Given the description of an element on the screen output the (x, y) to click on. 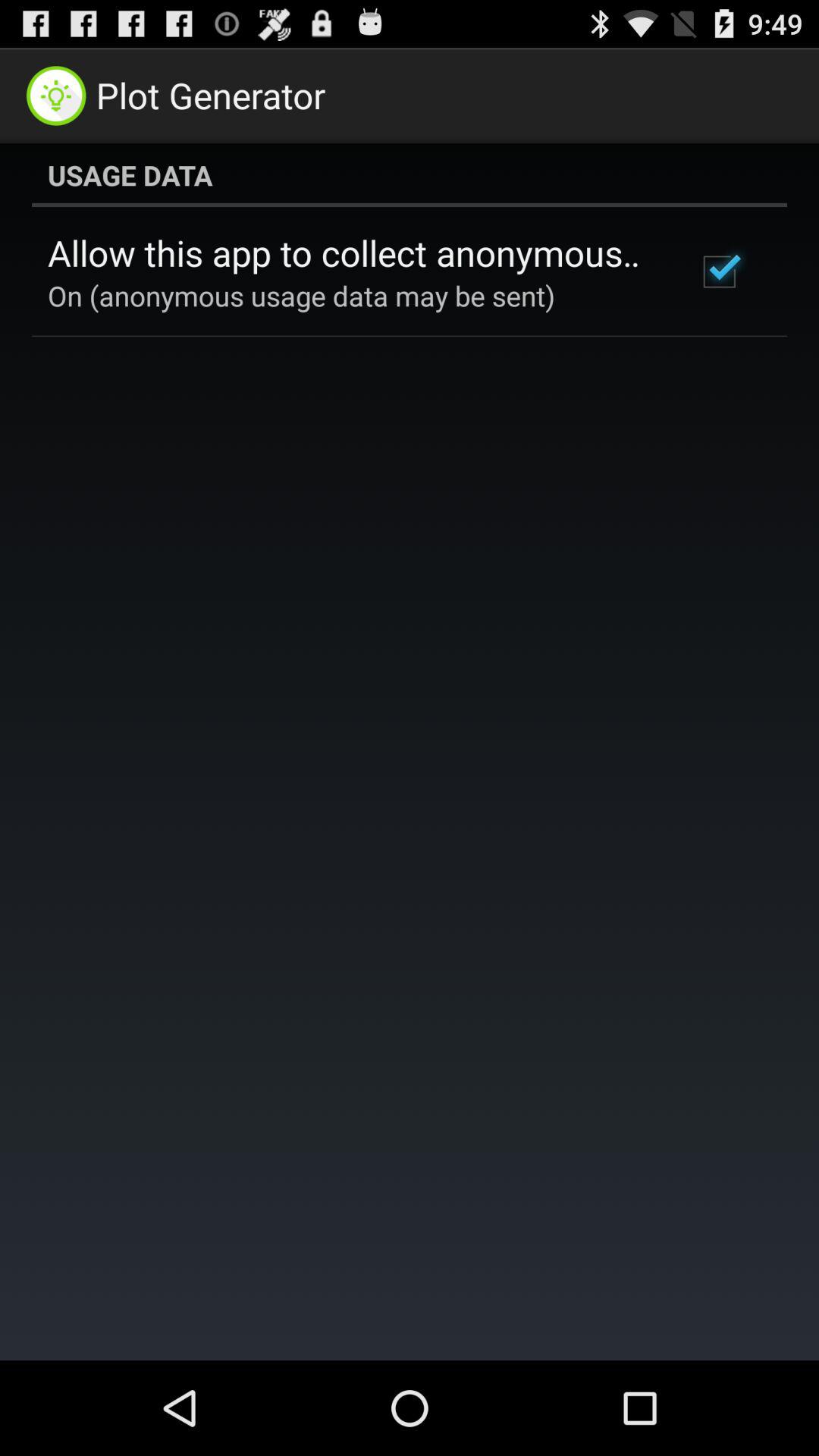
click icon at the top right corner (719, 271)
